Given the description of an element on the screen output the (x, y) to click on. 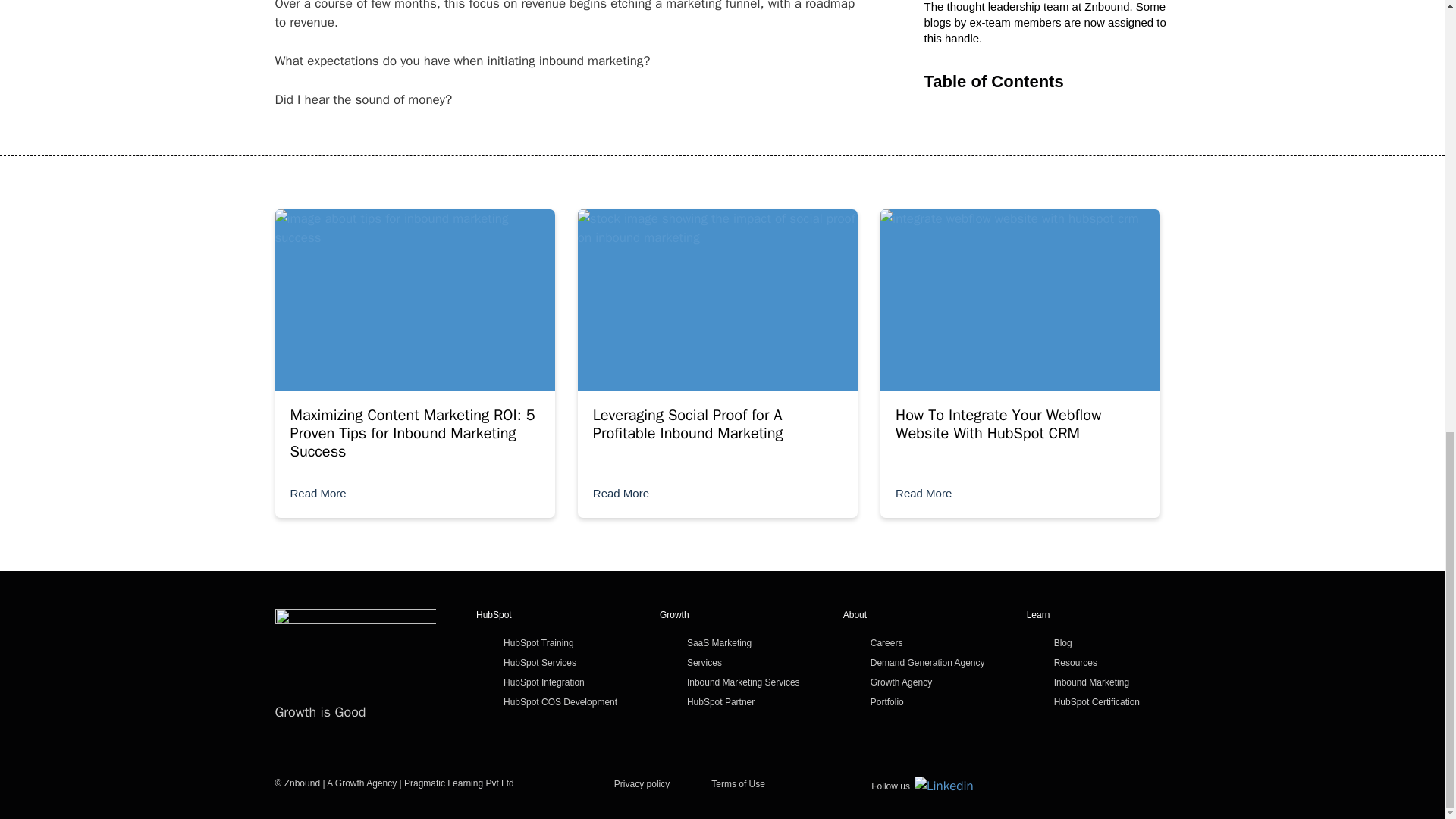
Portfolio (887, 701)
SaaS Marketing (719, 643)
Careers (886, 643)
HubSpot Integration (544, 682)
Inbound Marketing Services (743, 682)
Blog (1062, 643)
HubSpot COS Development (560, 701)
HubSpot Training (538, 643)
Leveraging Social Proof for A Profitable Inbound Marketing (687, 424)
